Given the description of an element on the screen output the (x, y) to click on. 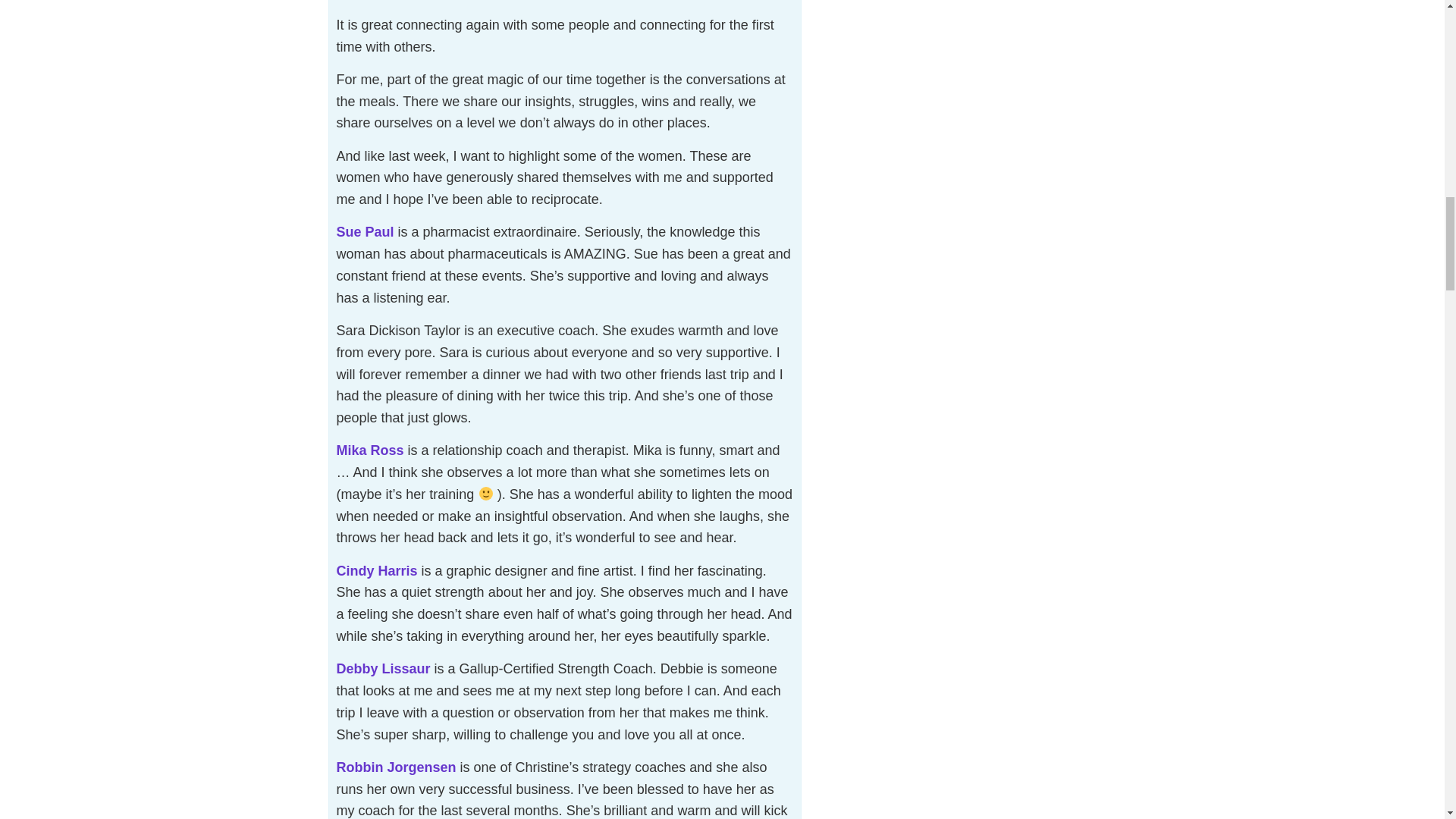
Robbin Jorgensen (396, 767)
Cindy Harris (376, 570)
Sue Paul (365, 231)
Mika Ross (370, 450)
Debby Lissaur (383, 668)
